Given the description of an element on the screen output the (x, y) to click on. 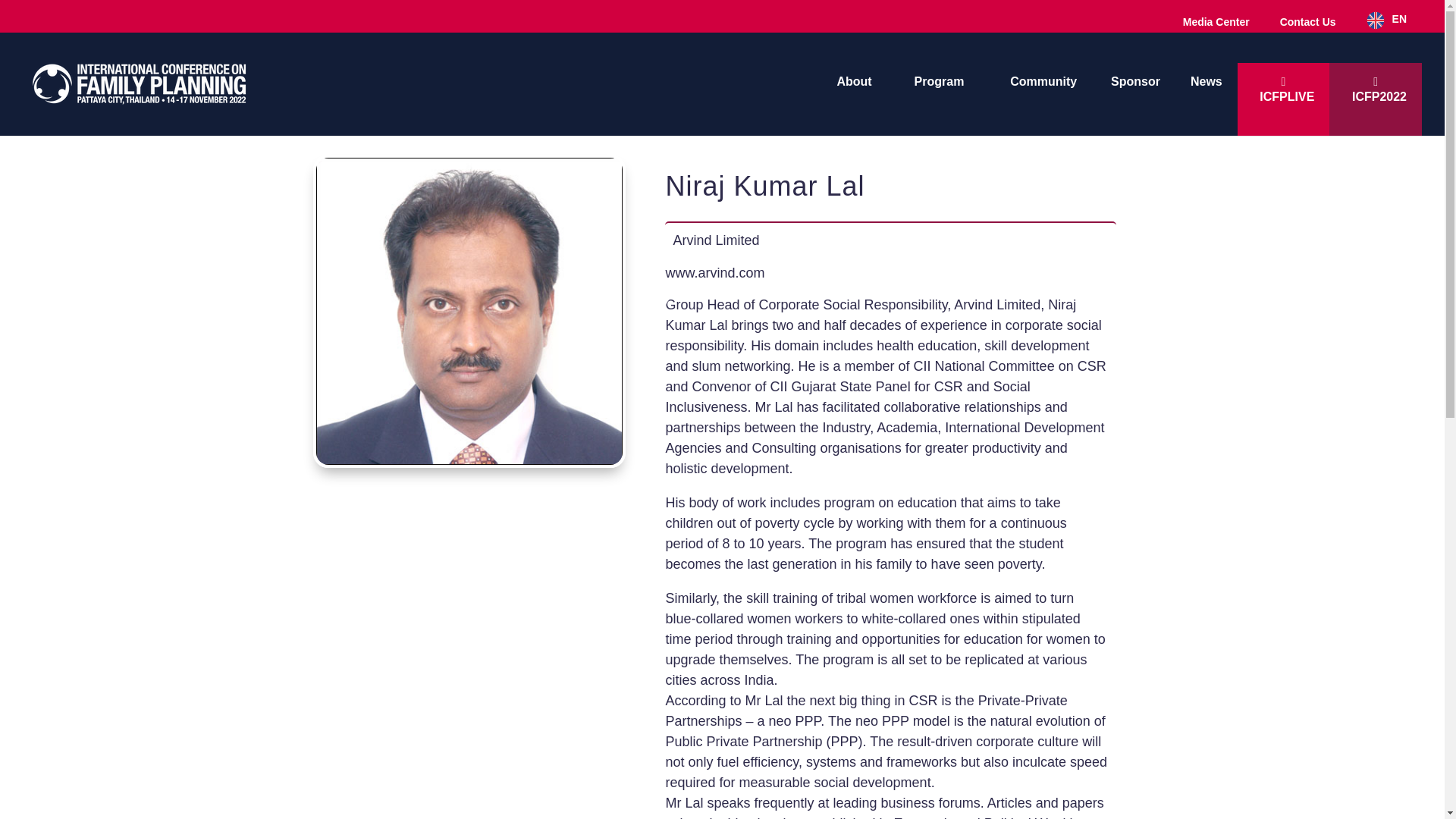
Media Center (1216, 21)
Program (938, 90)
English (1386, 19)
EN (1386, 19)
Contact Us (1294, 19)
About (1308, 21)
